Given the description of an element on the screen output the (x, y) to click on. 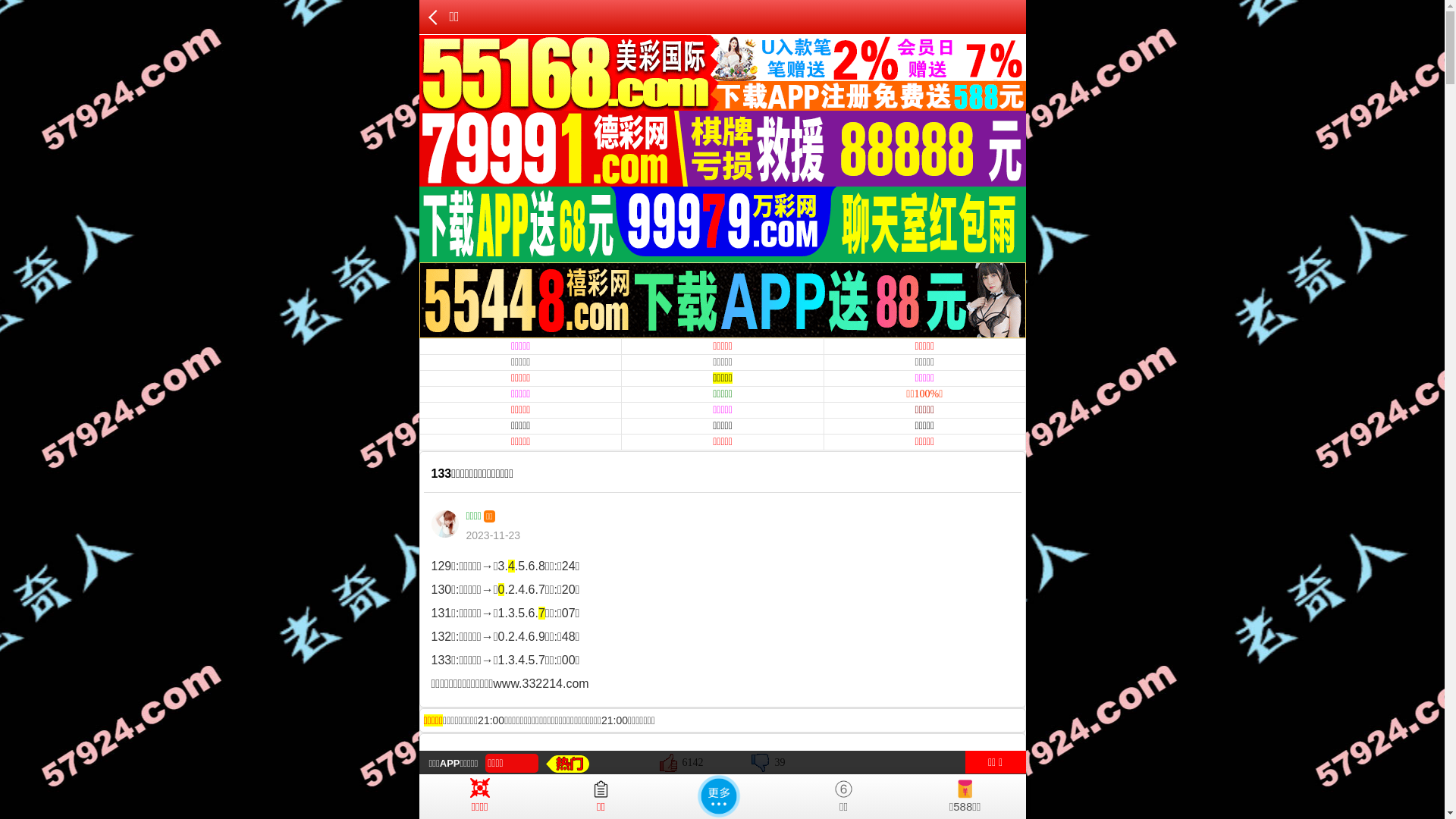
6142 Element type: text (681, 762)
39 Element type: text (767, 762)
